Given the description of an element on the screen output the (x, y) to click on. 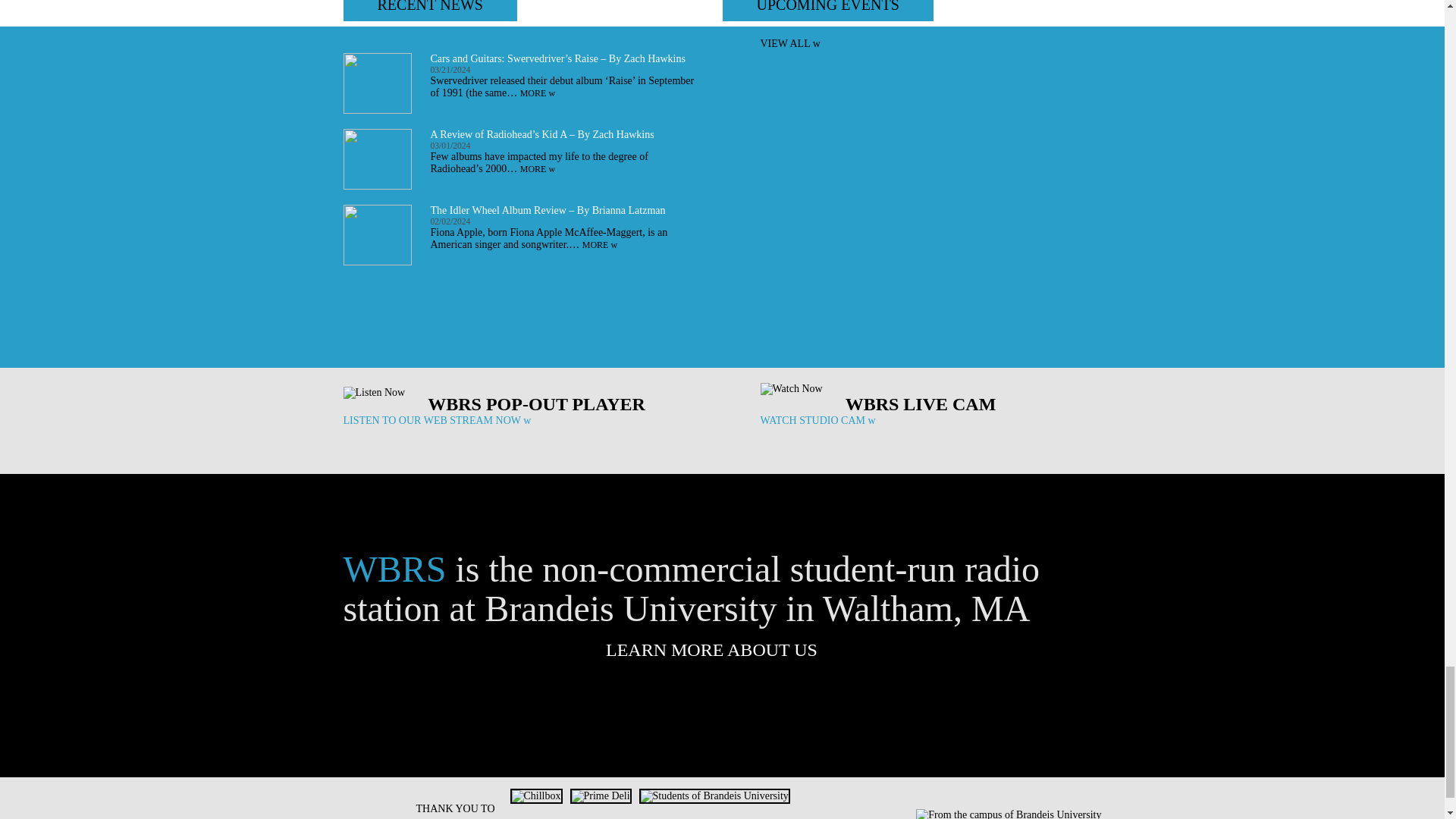
WATCH STUDIO CAM w (817, 419)
MORE w (536, 168)
LEARN MORE ABOUT US (721, 649)
VIEW ALL w (789, 43)
MORE w (599, 244)
MORE w (536, 92)
LISTEN TO OUR WEB STREAM NOW w (436, 419)
WBRS POP-OUT PLAYER (536, 403)
WBRS LIVE CAM (920, 403)
